Given the description of an element on the screen output the (x, y) to click on. 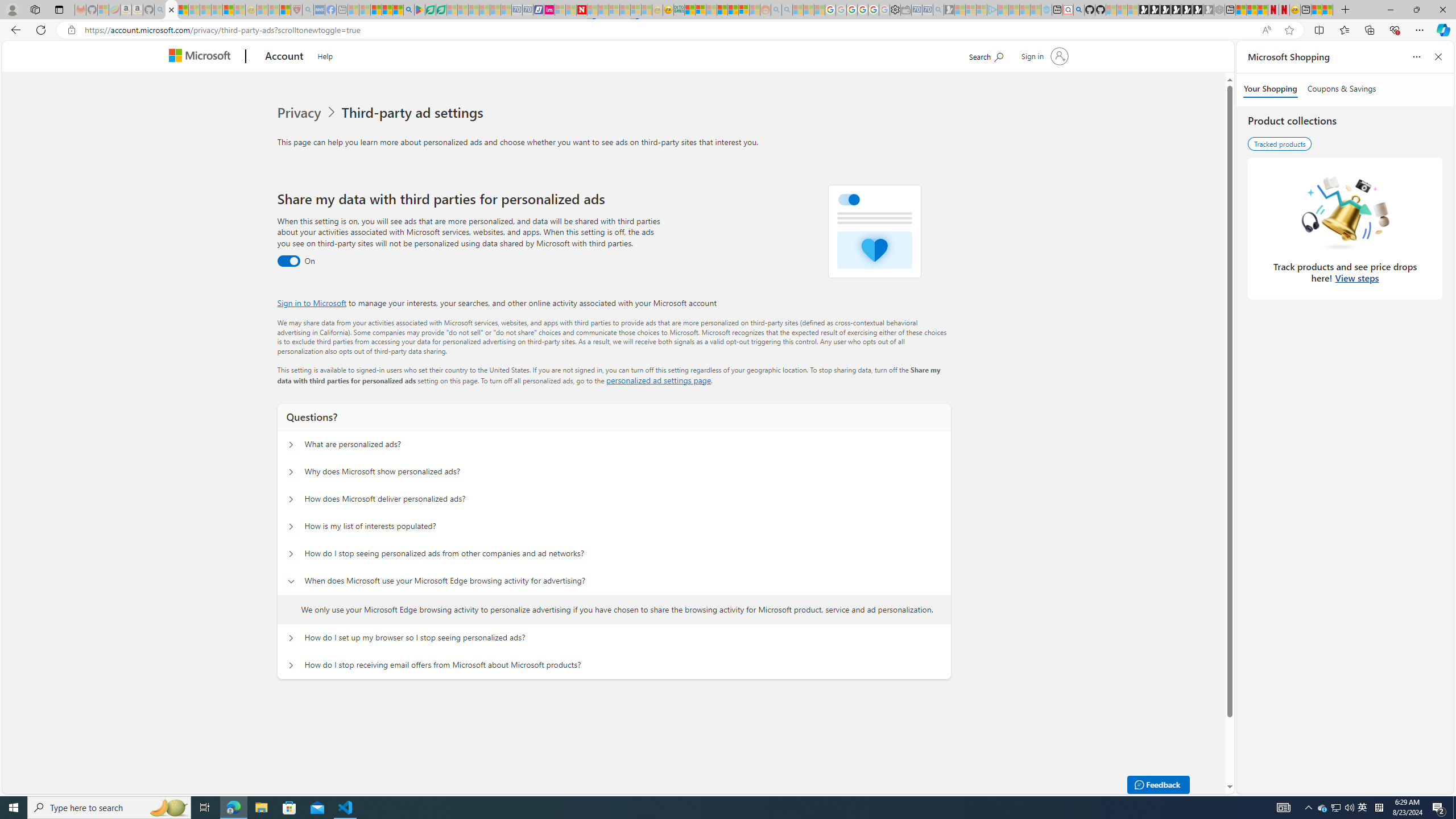
Bluey: Let's Play! - Apps on Google Play (419, 9)
Questions? What are personalized ads? (290, 444)
Latest Politics News & Archive | Newsweek.com (582, 9)
Terms of Use Agreement (430, 9)
